Given the description of an element on the screen output the (x, y) to click on. 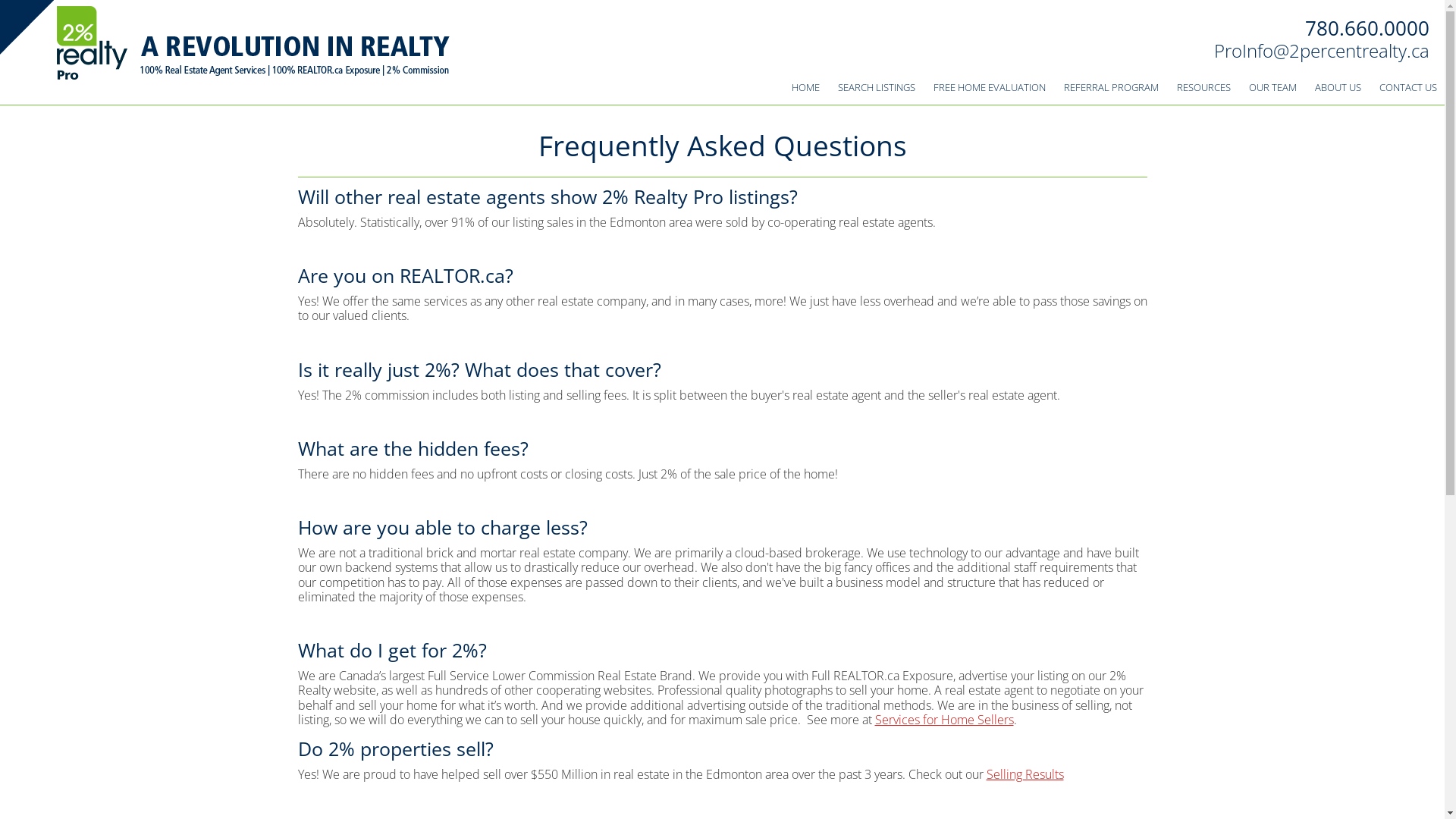
CONTACT US Element type: text (1407, 87)
780.660.0000 Element type: text (1367, 27)
RESOURCES Element type: text (1203, 87)
Services for Home Sellers Element type: text (944, 719)
ProInfo@2percentrealty.ca Element type: text (1321, 49)
REFERRAL PROGRAM Element type: text (1111, 87)
HOME Element type: text (805, 87)
ABOUT US Element type: text (1337, 87)
SEARCH LISTINGS Element type: text (876, 87)
Selling Results Element type: text (1024, 773)
OUR TEAM Element type: text (1272, 87)
FREE HOME EVALUATION Element type: text (989, 87)
